Given the description of an element on the screen output the (x, y) to click on. 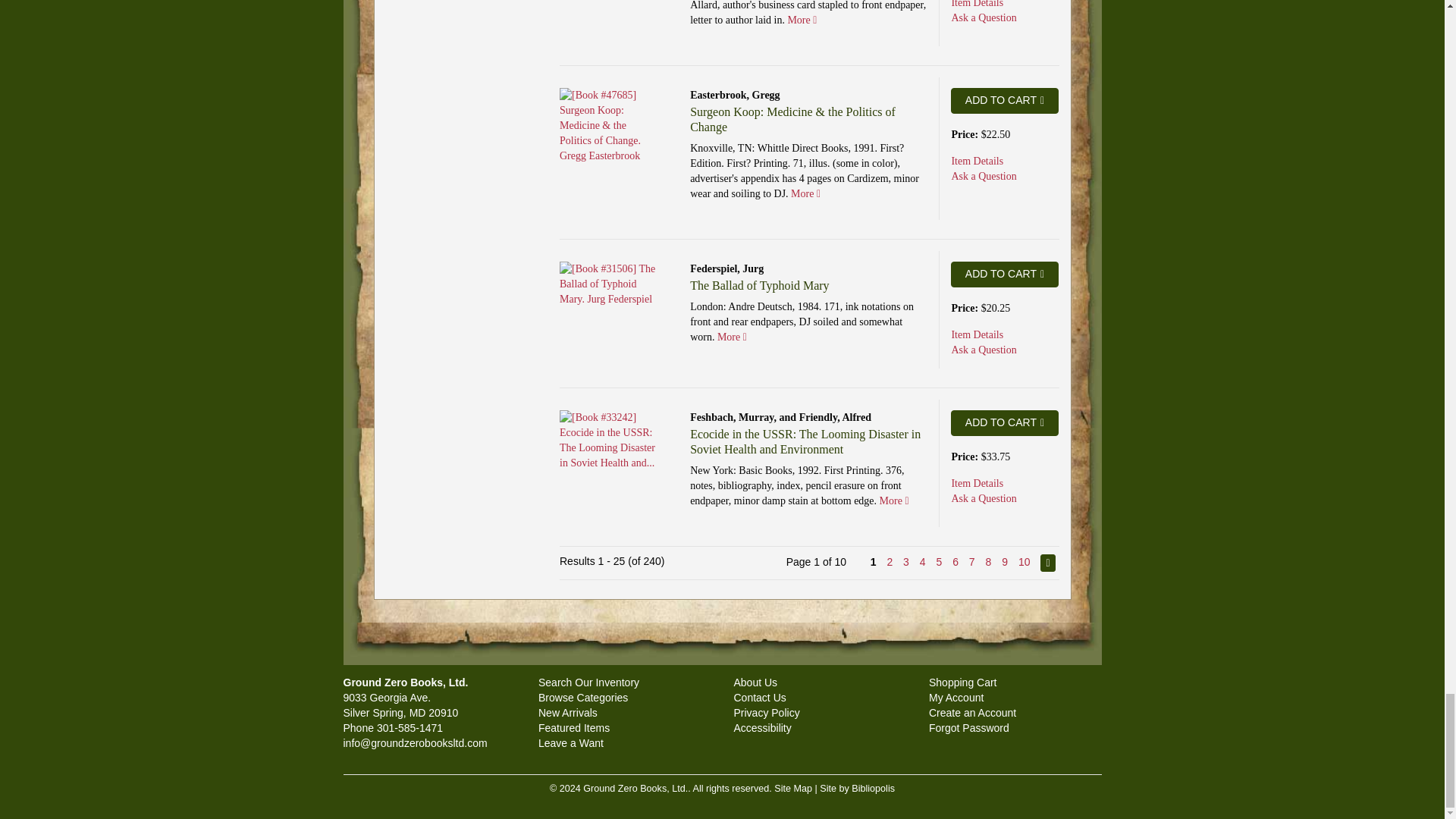
Site by Bibliopolis (857, 787)
